Given the description of an element on the screen output the (x, y) to click on. 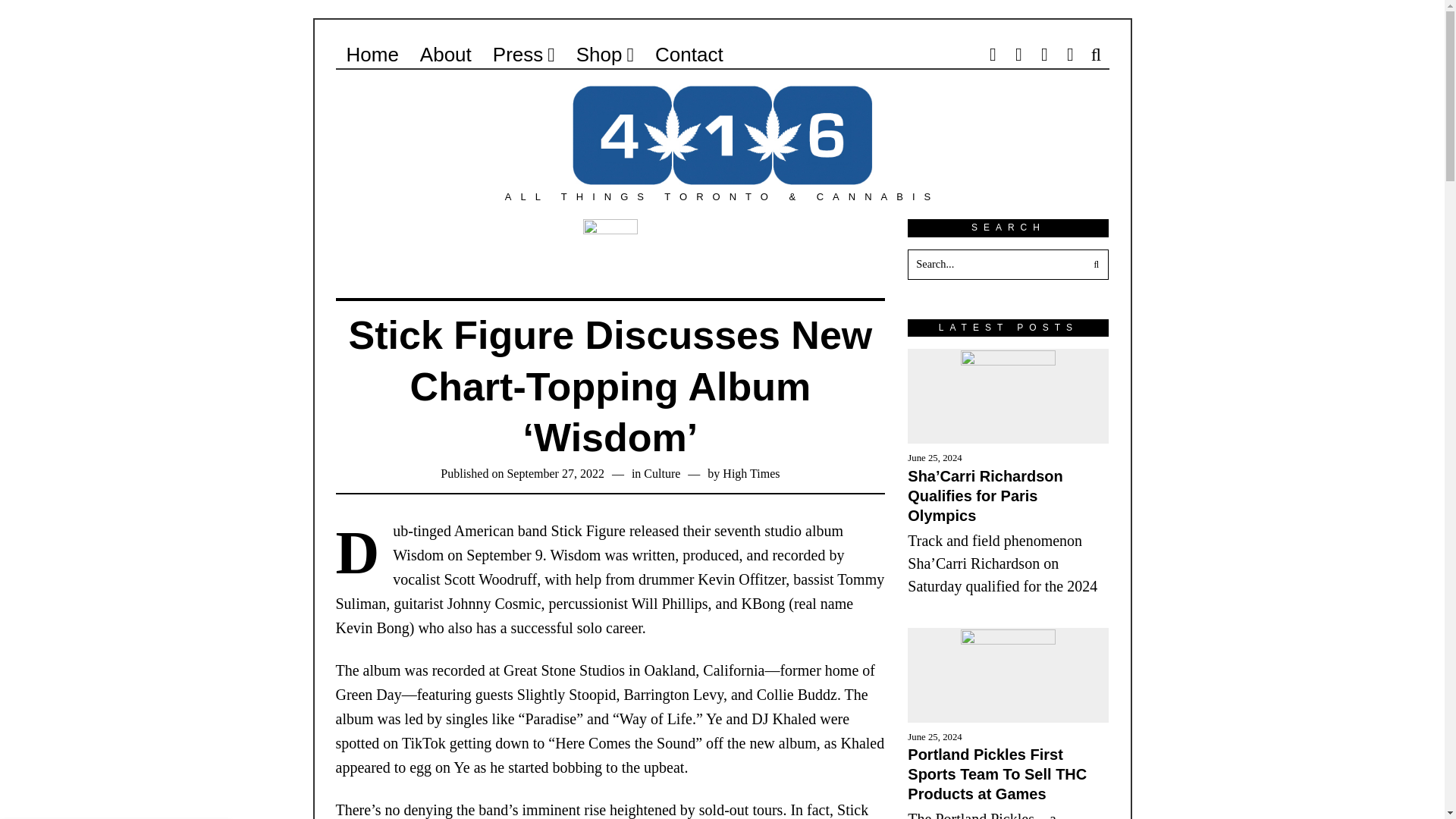
Shop (605, 54)
High Times (750, 472)
Go (1093, 264)
Home (371, 54)
Culture (661, 472)
Press (523, 54)
About (445, 54)
Contact (689, 54)
